Given the description of an element on the screen output the (x, y) to click on. 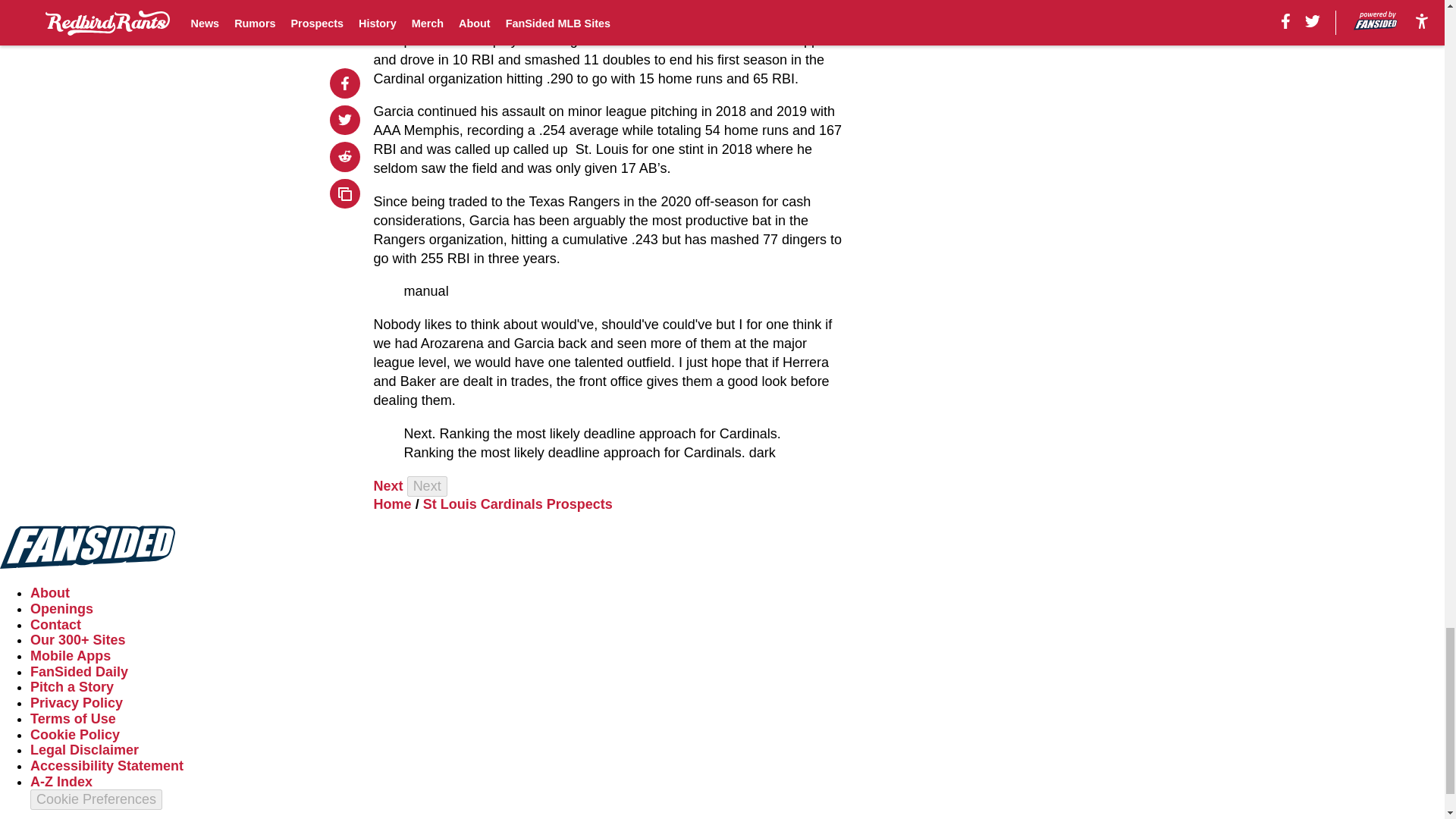
St Louis Cardinals Prospects (517, 503)
Next (426, 485)
Home (393, 503)
Next (388, 485)
